Given the description of an element on the screen output the (x, y) to click on. 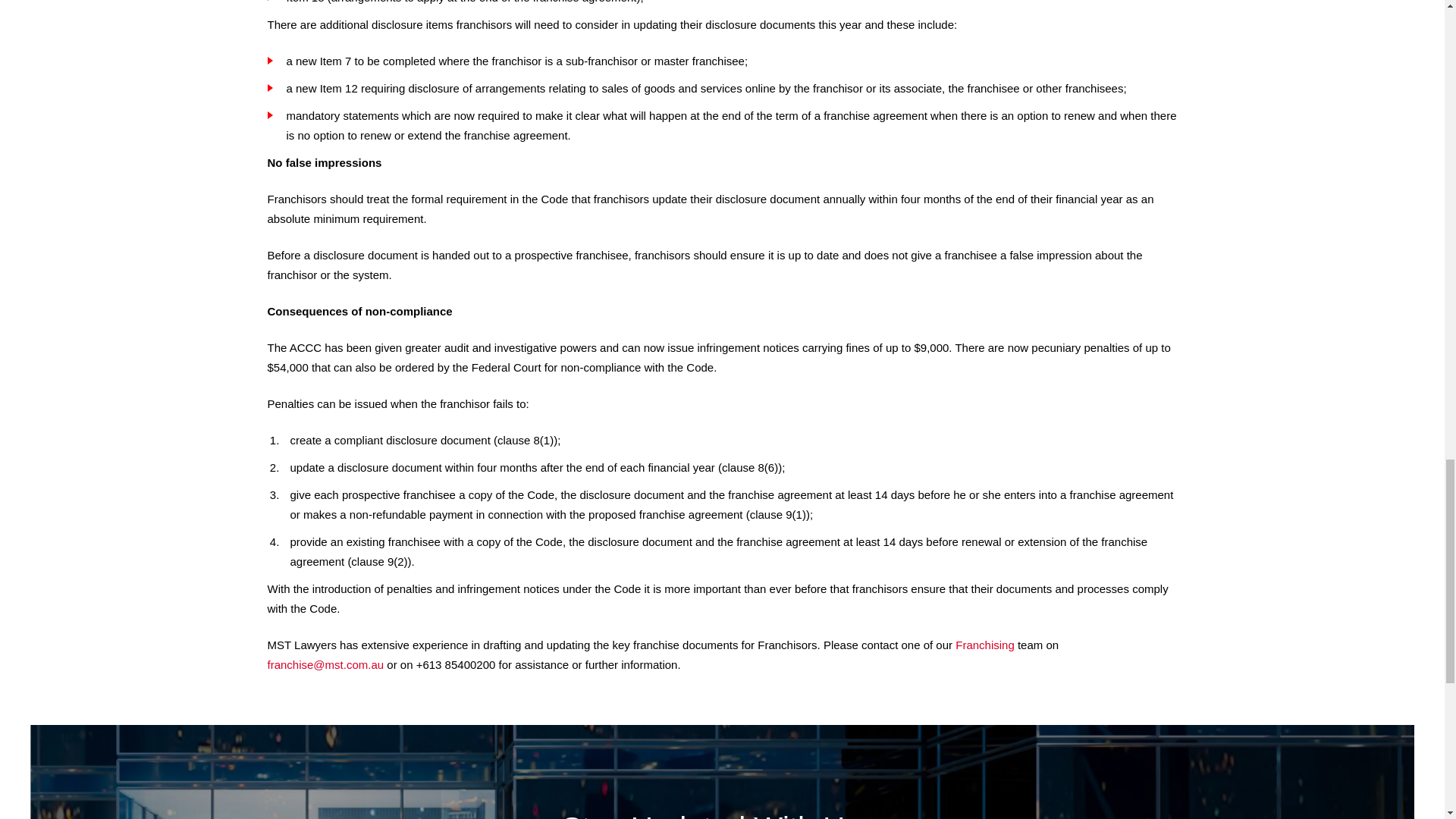
Franchise Law (984, 644)
